Given the description of an element on the screen output the (x, y) to click on. 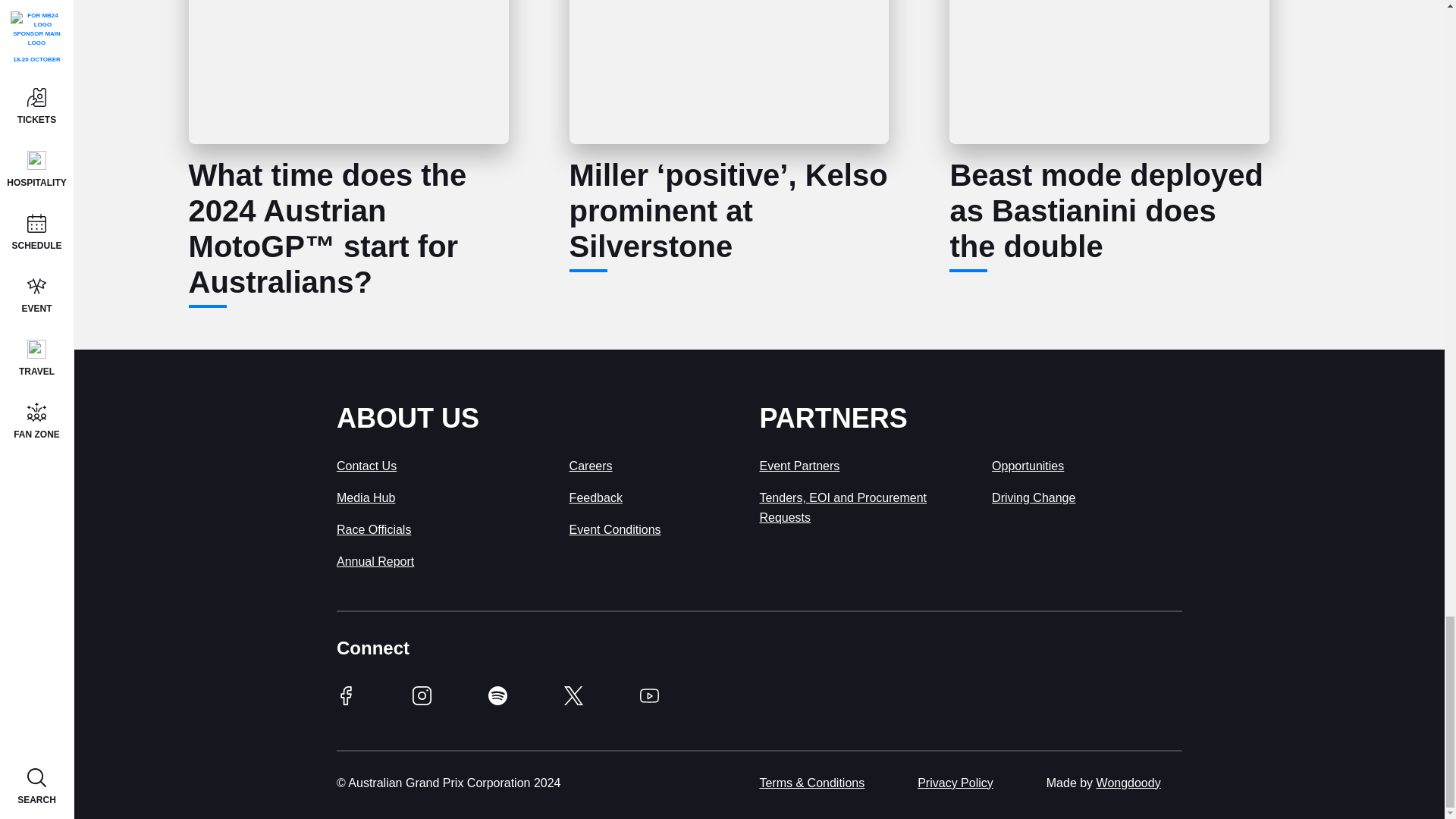
Privacy Policy (954, 782)
Race Officials (373, 529)
Twitter (573, 700)
Facebook (345, 700)
Event Conditions (615, 529)
Instagram (421, 700)
Contact Us (366, 465)
Spotify (496, 700)
Driving Change (1033, 497)
Event Partners (799, 465)
